Given the description of an element on the screen output the (x, y) to click on. 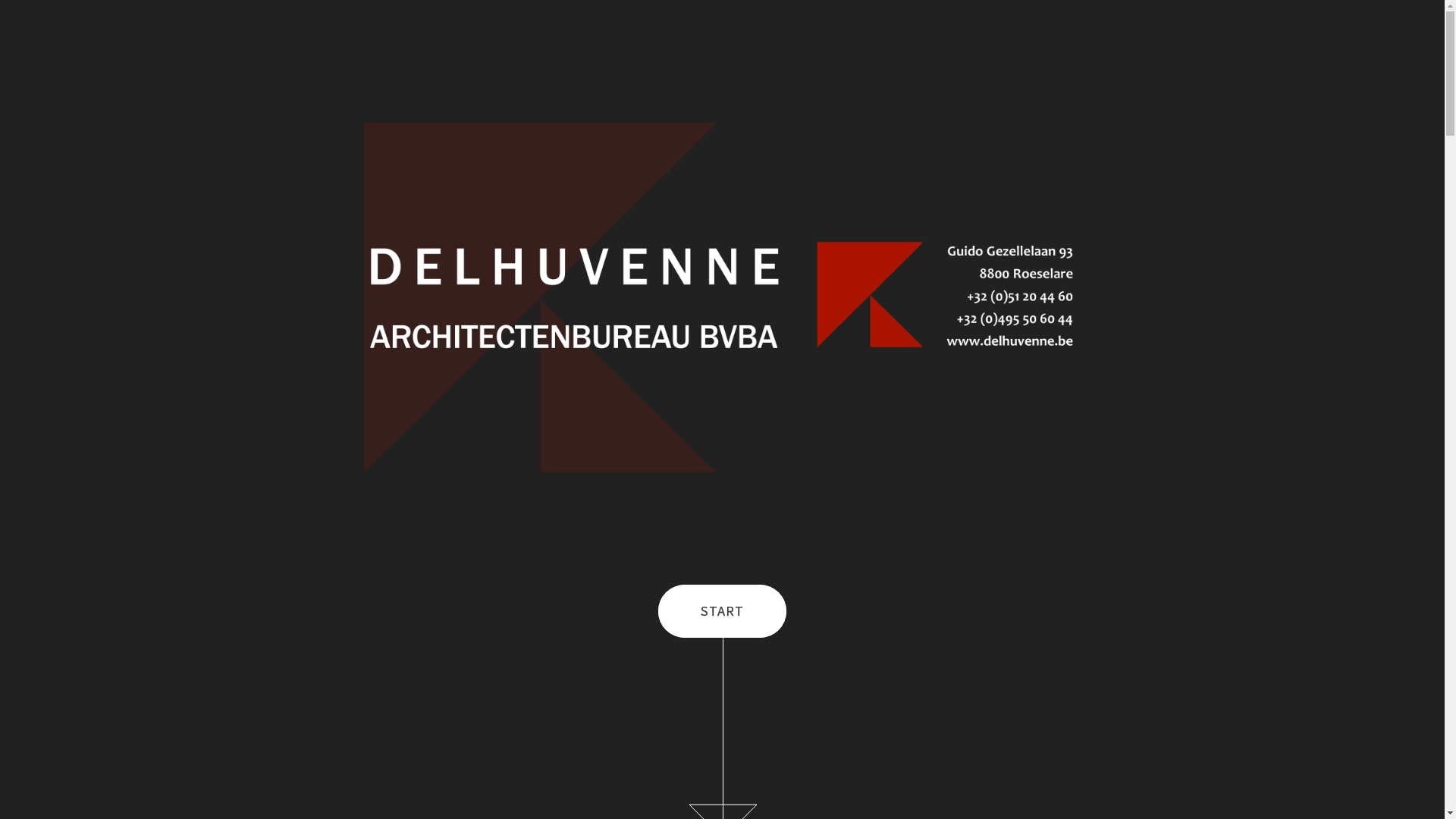
START Element type: text (722, 610)
